Given the description of an element on the screen output the (x, y) to click on. 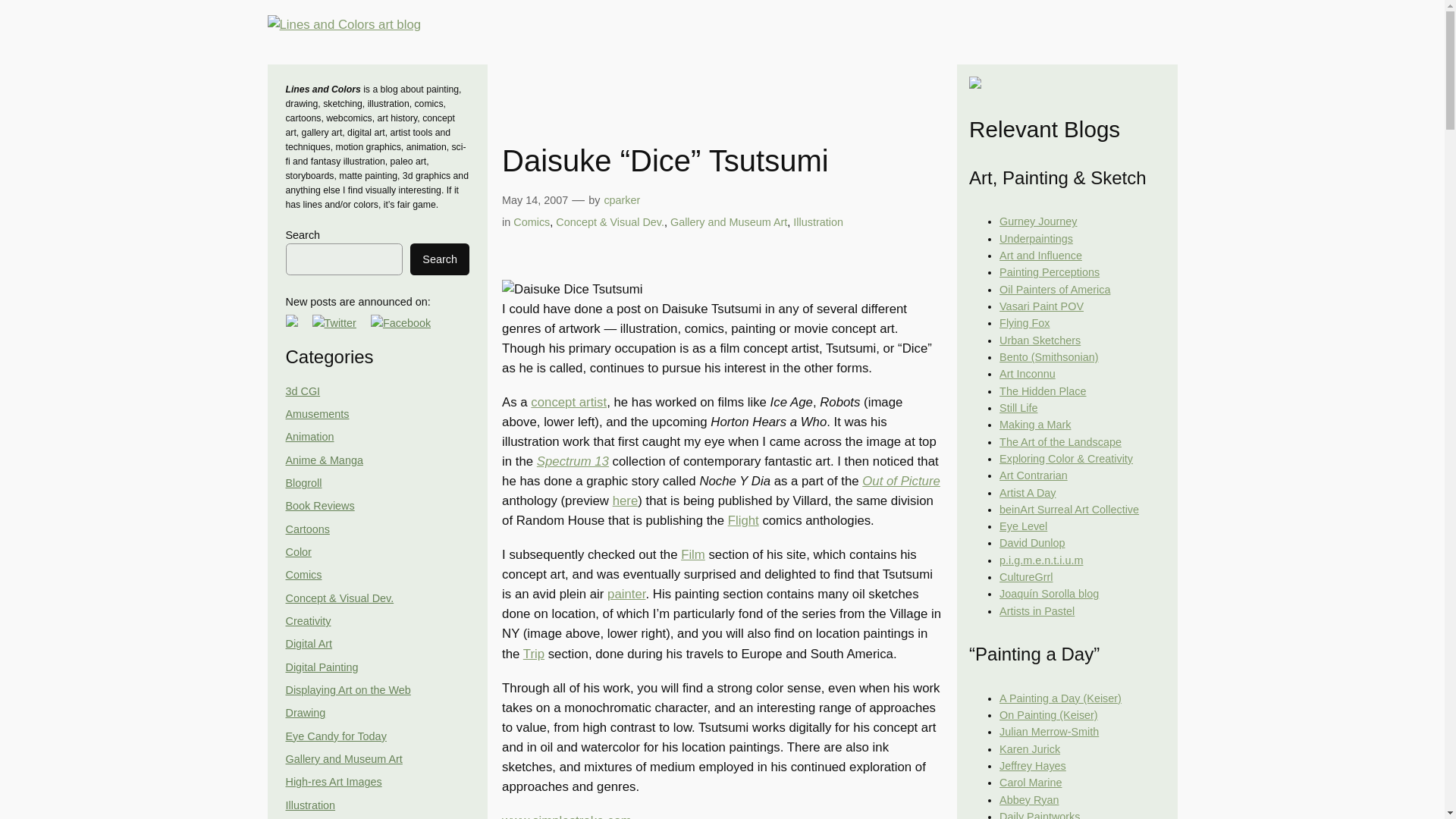
Blogroll (303, 482)
Drawing (304, 712)
Gallery and Museum Art (343, 758)
High-res Art Images (333, 781)
Animation (309, 436)
Creativity (307, 621)
3d CGI (302, 390)
Digital Art (308, 644)
Book Reviews (319, 505)
Comics (303, 574)
Eye Candy for Today (335, 736)
Displaying Art on the Web (347, 689)
Color (298, 551)
Amusements (317, 413)
Cartoons (307, 529)
